Given the description of an element on the screen output the (x, y) to click on. 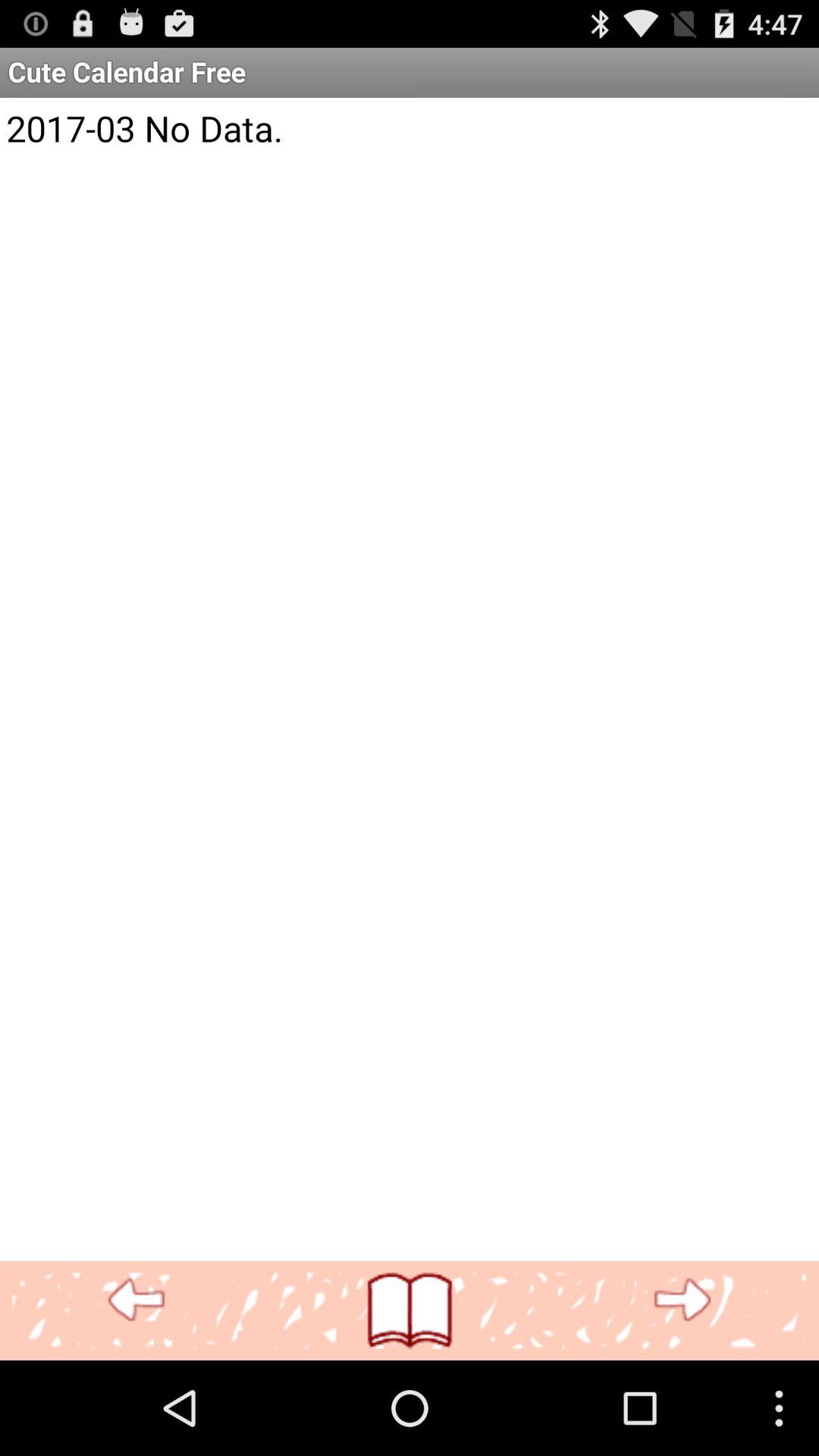
see calendar pages (409, 1310)
